Given the description of an element on the screen output the (x, y) to click on. 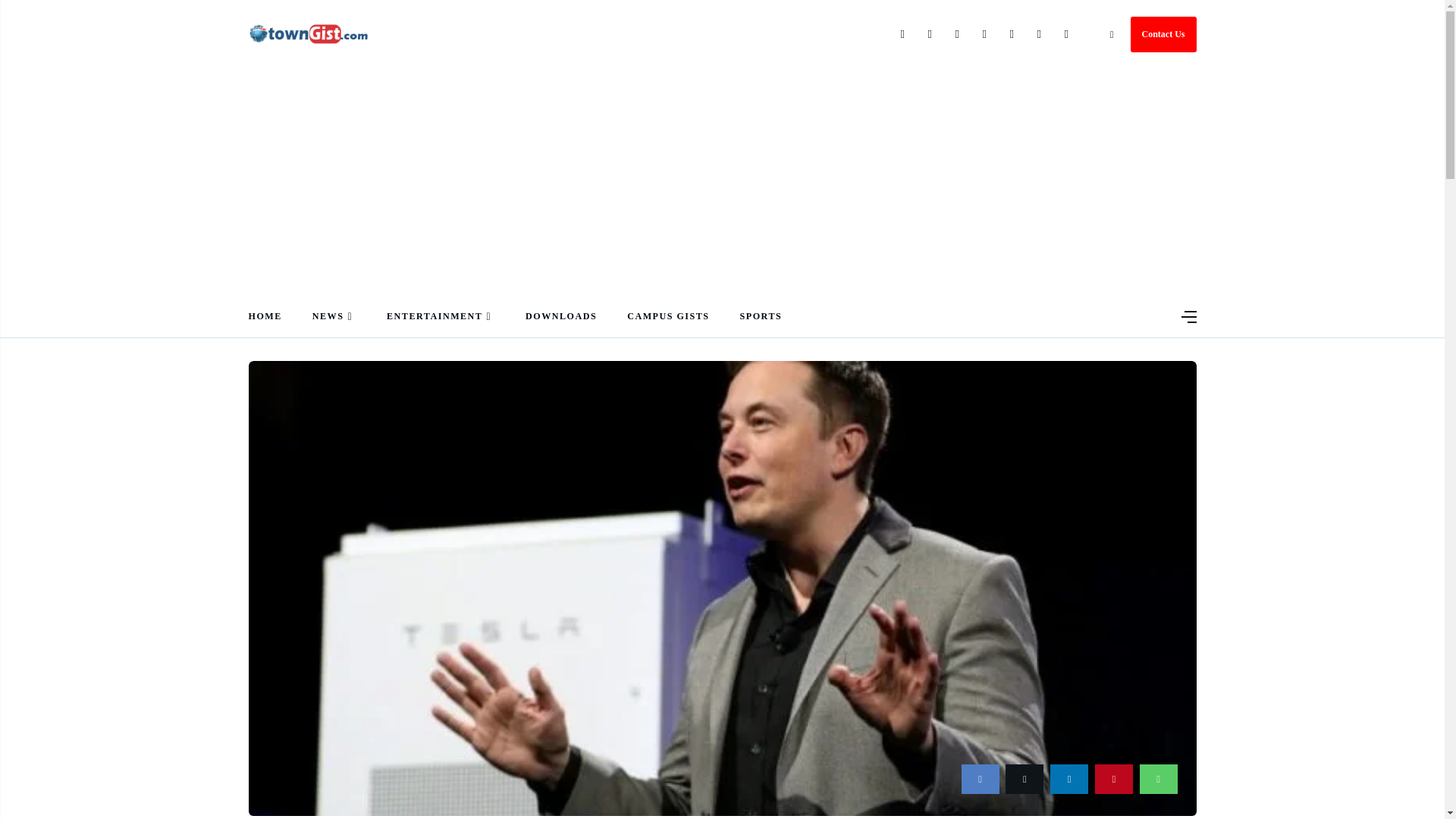
facebook (979, 778)
